Given the description of an element on the screen output the (x, y) to click on. 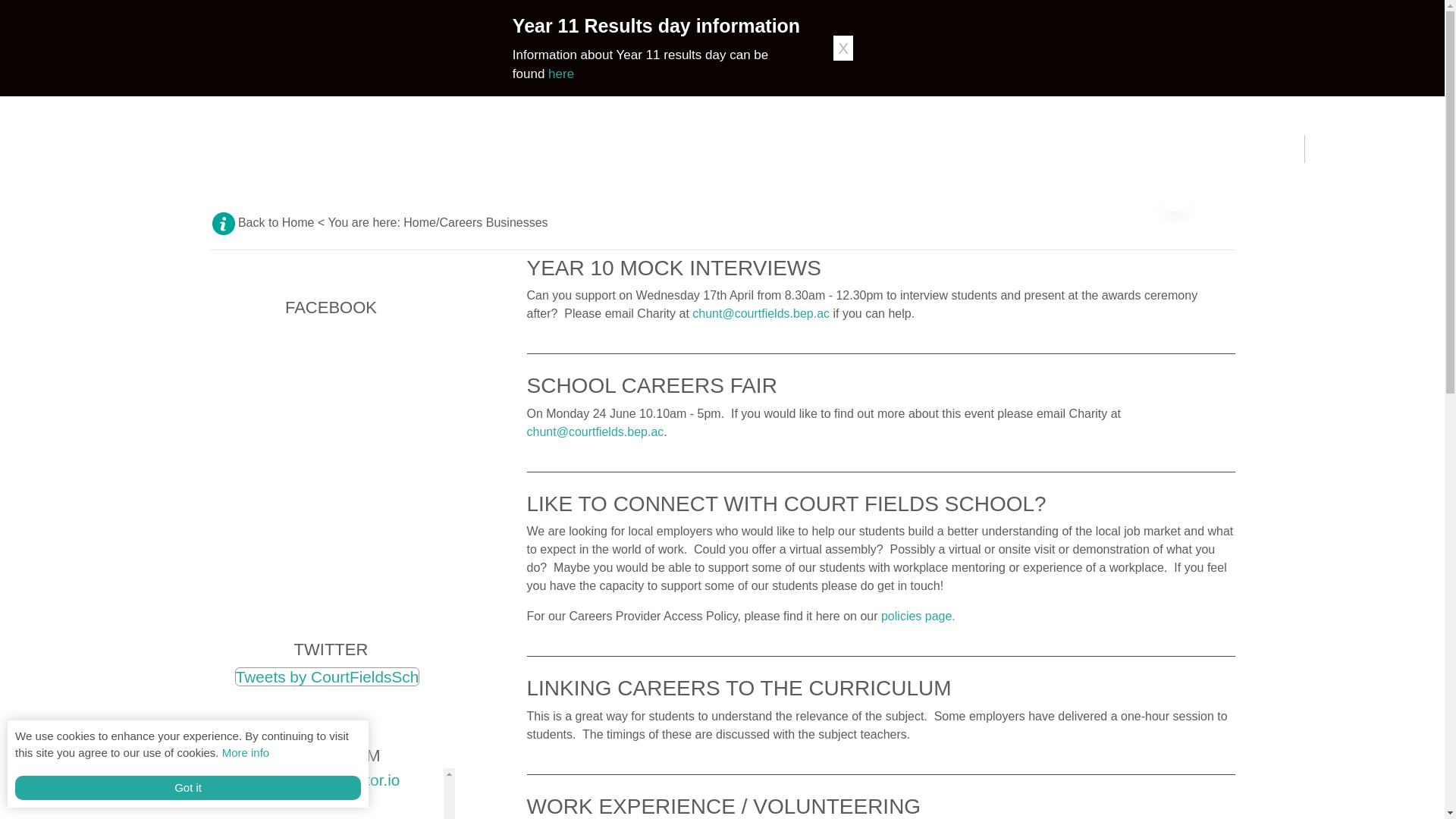
Back to Home (274, 222)
Tweets by CourtFieldsSch (327, 676)
Powered by Curator.io (322, 779)
here (560, 73)
fb:page Facebook Social Plugin (327, 449)
policies page. (917, 615)
